Given the description of an element on the screen output the (x, y) to click on. 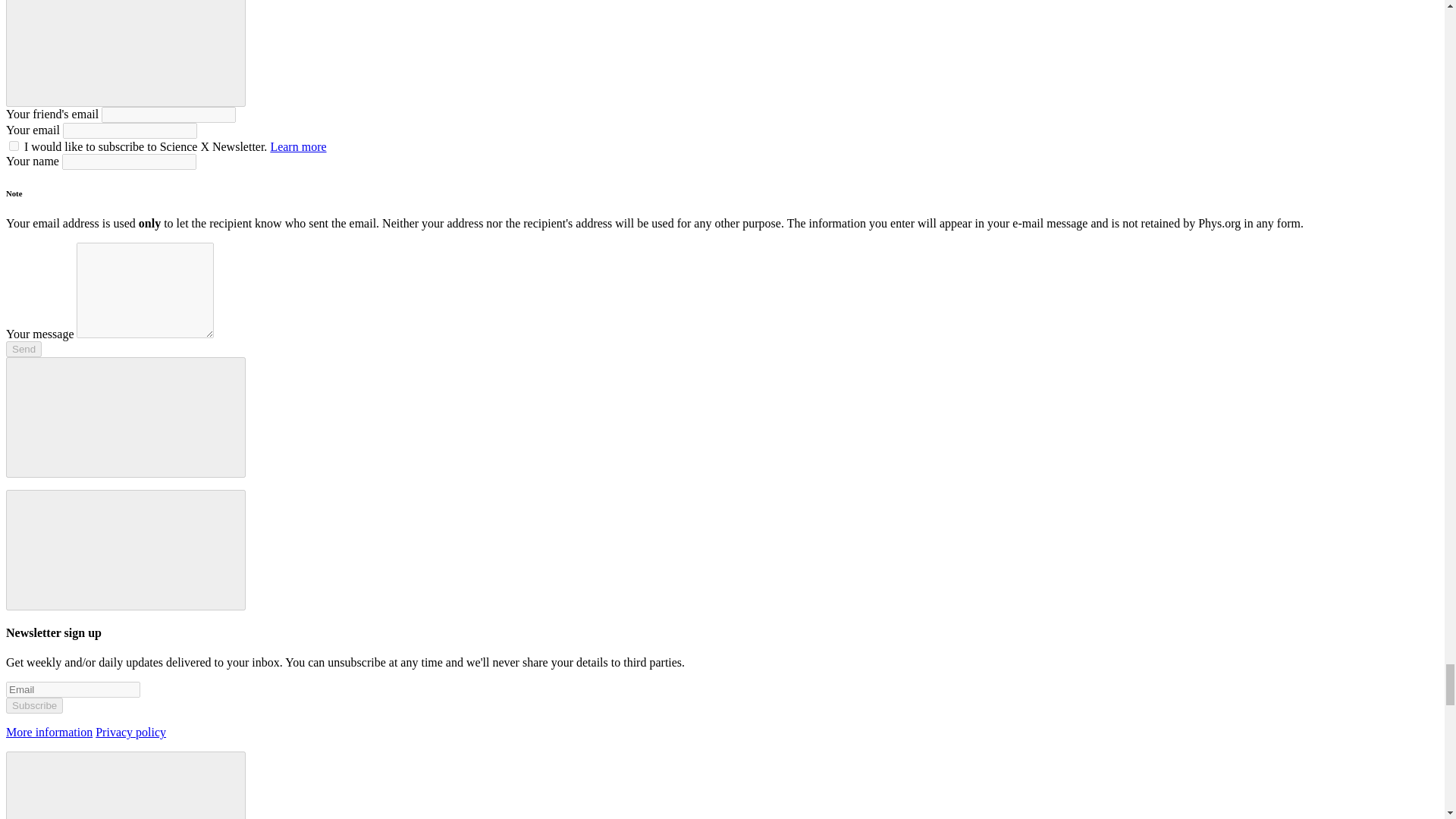
1 (13, 145)
